Given the description of an element on the screen output the (x, y) to click on. 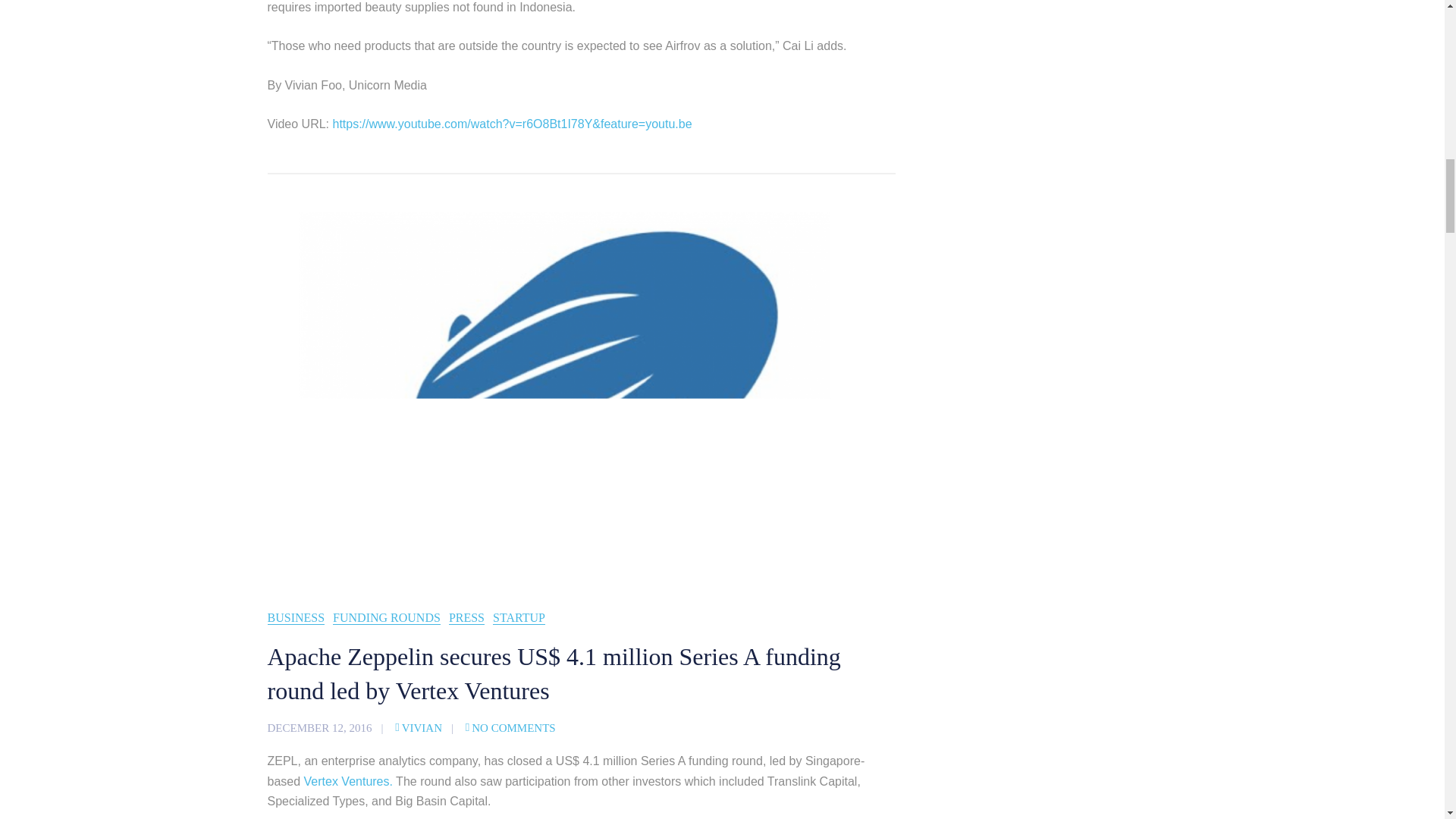
Vertex Ventures. (348, 780)
VIVIAN (418, 727)
BUSINESS (295, 617)
FUNDING ROUNDS (387, 617)
STARTUP (518, 617)
NO COMMENTS (510, 727)
PRESS (466, 617)
